Given the description of an element on the screen output the (x, y) to click on. 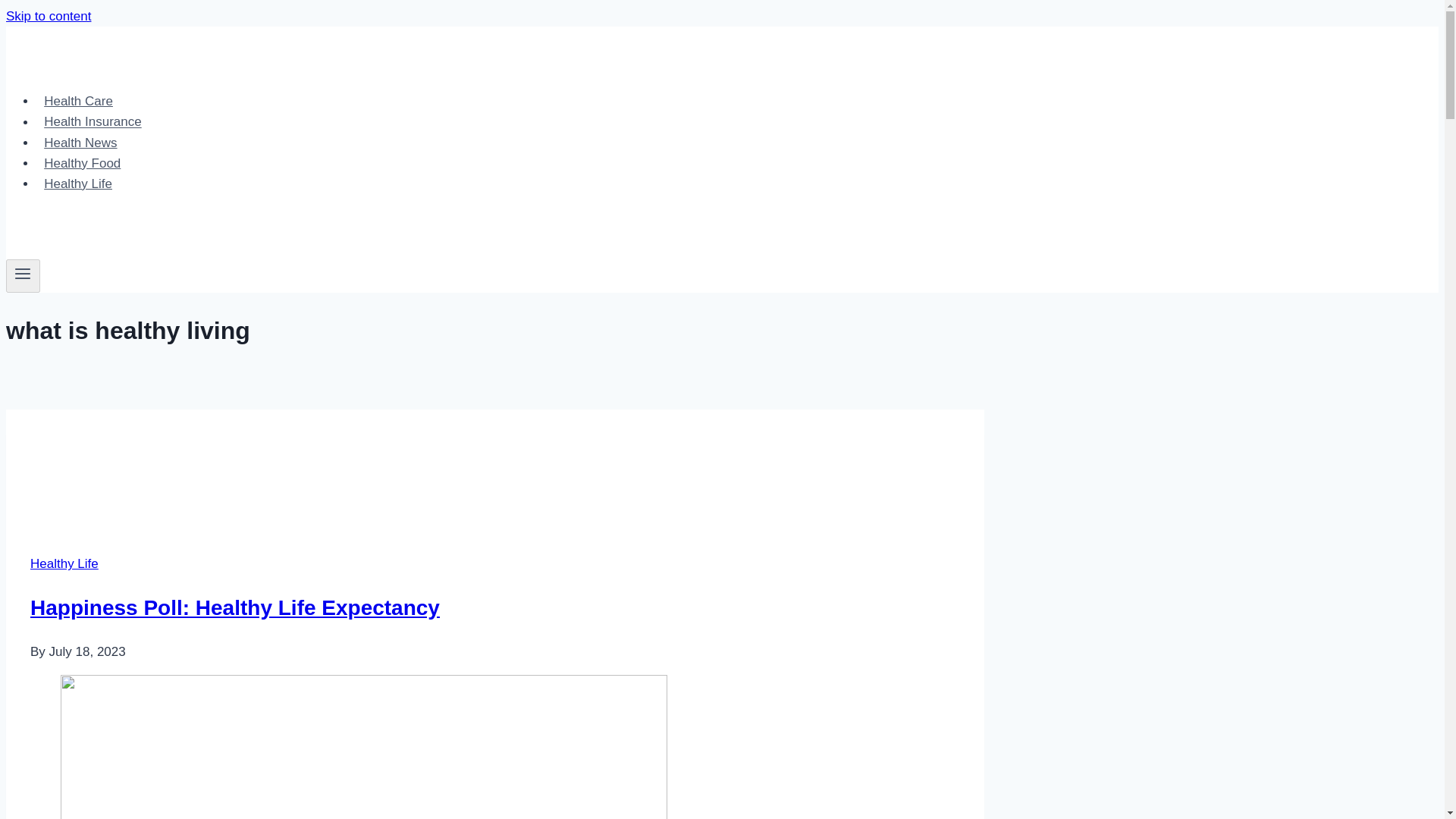
Healthy Life (64, 563)
Healthy Life (77, 183)
Happiness Poll: Healthy Life Expectancy (234, 607)
Skip to content (47, 16)
Toggle Menu (22, 273)
Happiness Poll: Healthy Life Expectancy (296, 466)
Healthy Food (82, 163)
Health Care (78, 101)
Health News (80, 142)
Toggle Menu (22, 275)
